Given the description of an element on the screen output the (x, y) to click on. 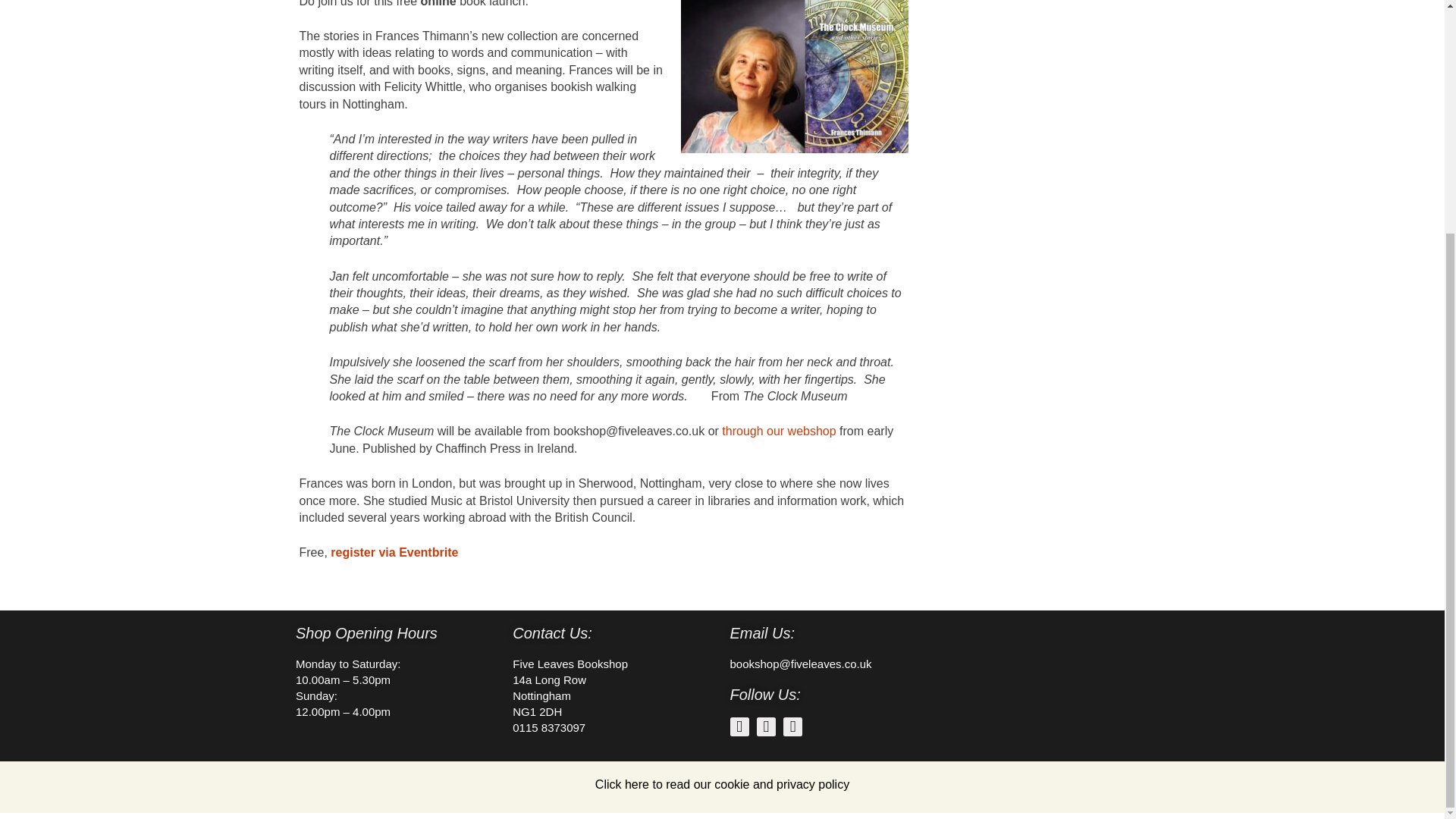
Click here to read our cookie and privacy policy (721, 784)
register via Eventbrite (394, 552)
through our webshop (778, 431)
